Given the description of an element on the screen output the (x, y) to click on. 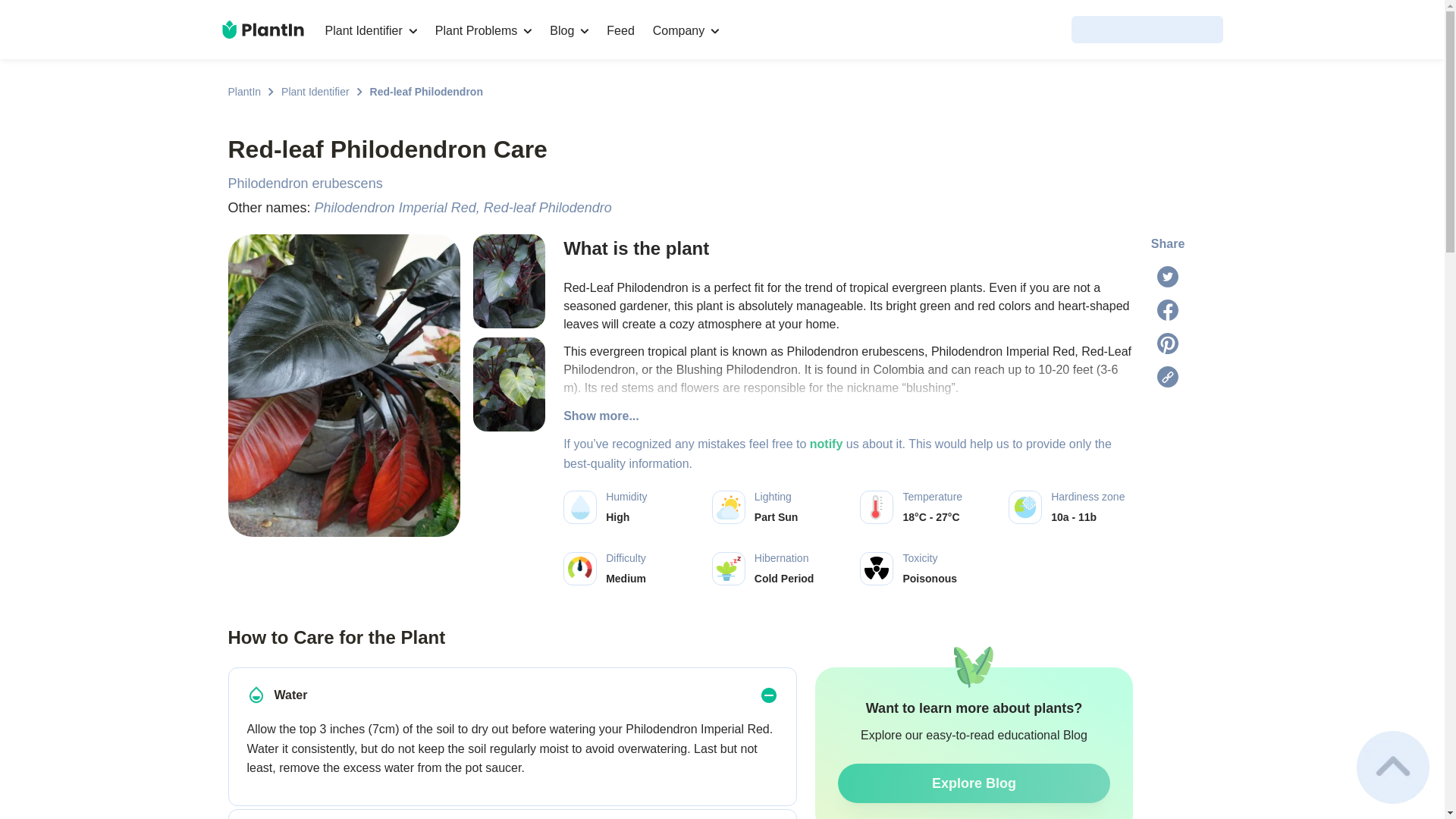
notify (825, 443)
Hardiness zone (1024, 507)
Plant Identifier (370, 31)
Plant Identifier (315, 91)
Difficulty (579, 568)
Home (261, 29)
PlantIn (243, 91)
Water (255, 695)
Lighting (728, 507)
Plant Problems (483, 31)
